Given the description of an element on the screen output the (x, y) to click on. 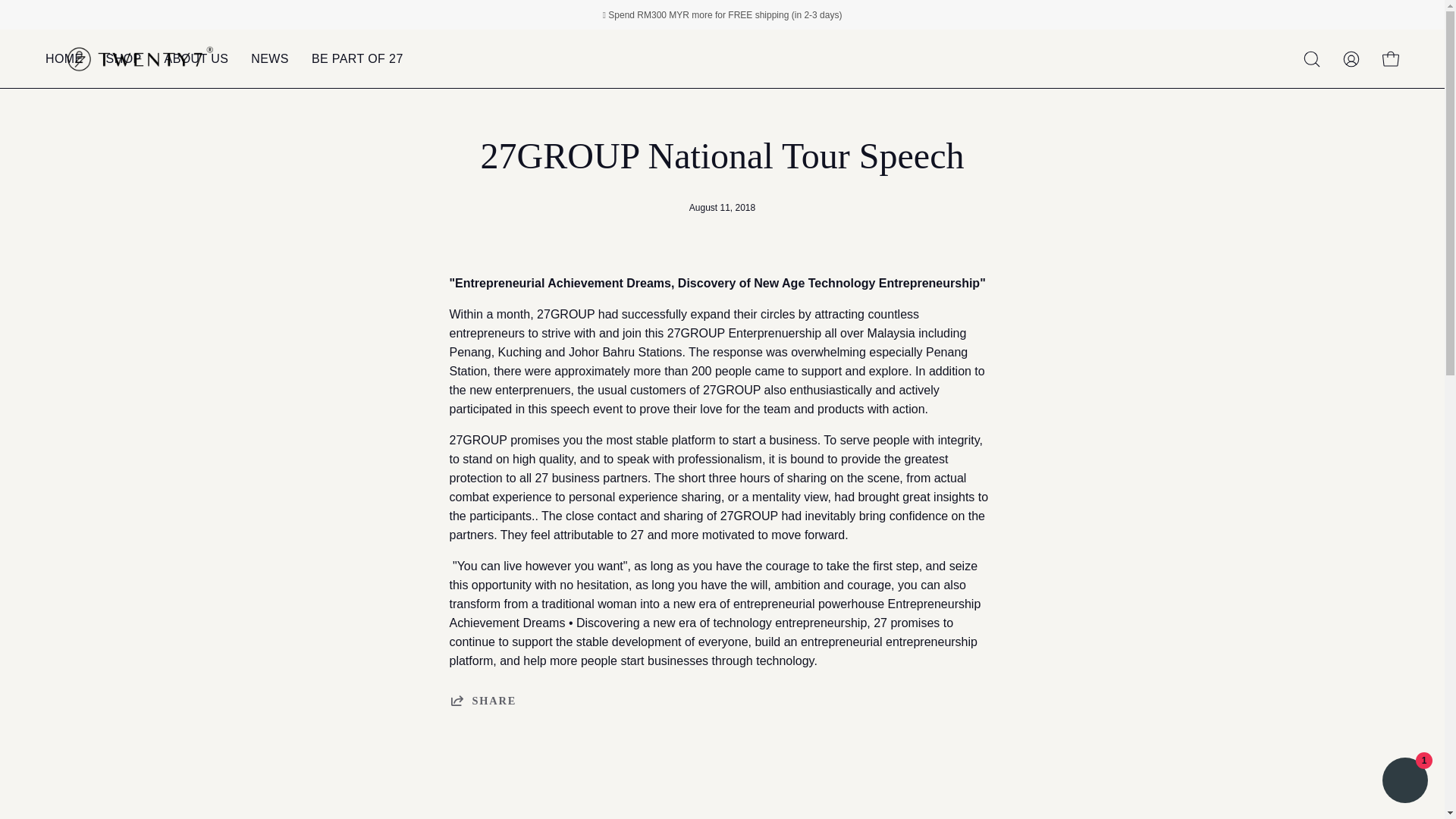
ABOUT US (196, 58)
Open search bar (1311, 59)
SHOP (123, 58)
HOME (63, 58)
